Given the description of an element on the screen output the (x, y) to click on. 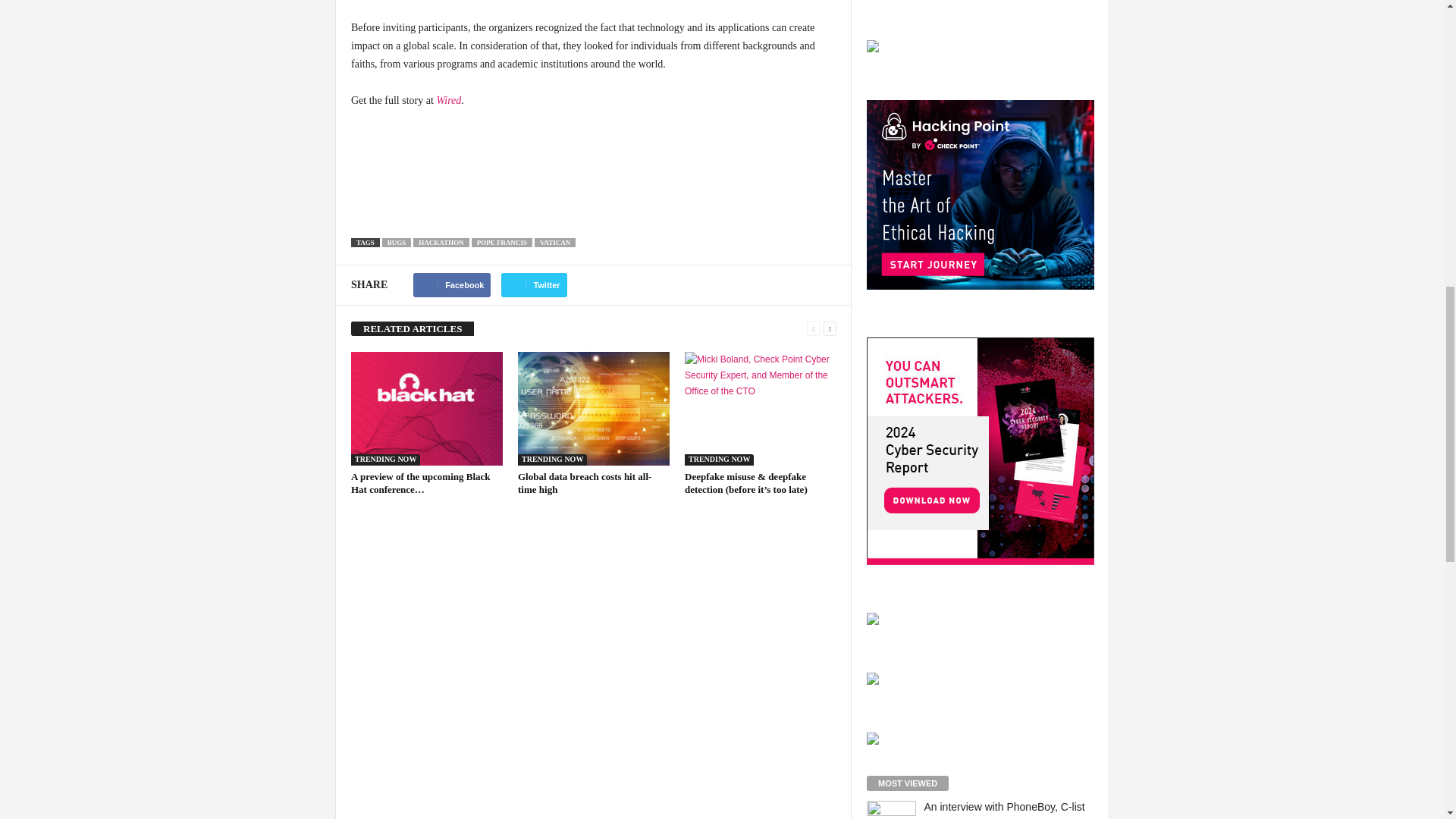
Global data breach costs hit all-time high (584, 482)
Global data breach costs hit all-time high (593, 409)
